Given the description of an element on the screen output the (x, y) to click on. 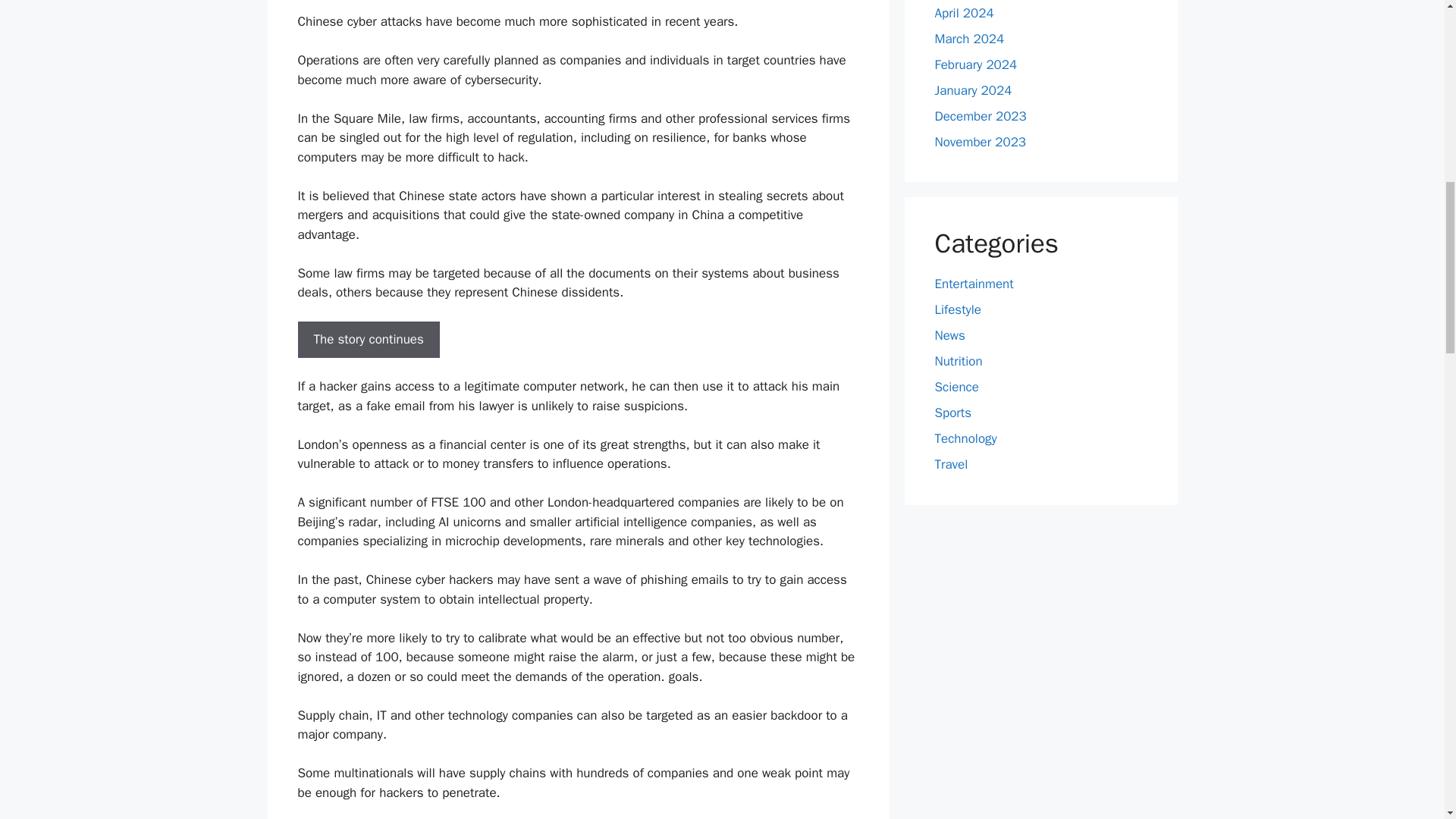
The story continues (368, 339)
